Given the description of an element on the screen output the (x, y) to click on. 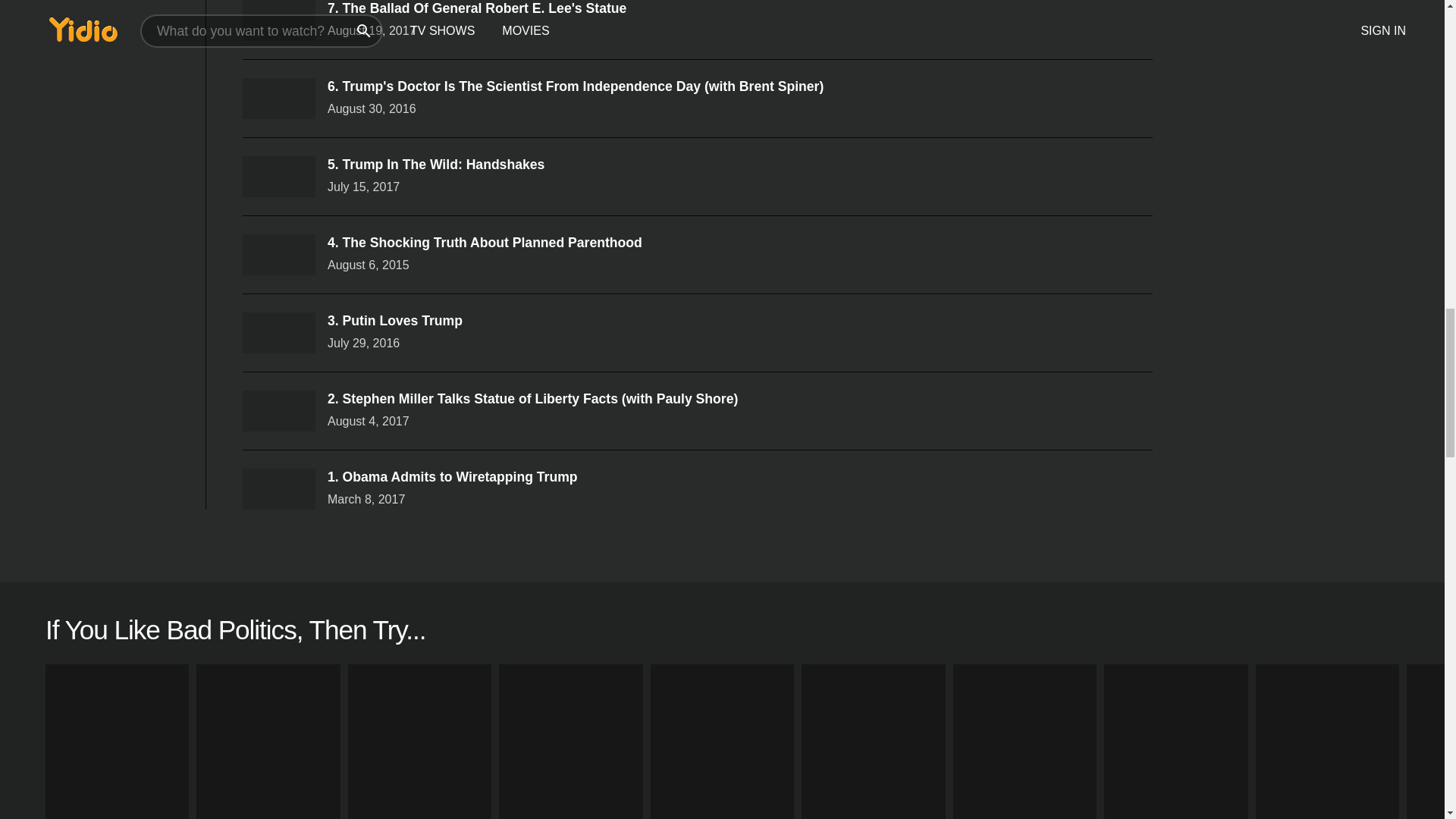
Palm Royale (1175, 741)
Palm Royale (1175, 741)
Ted Lasso (117, 741)
Rick and Morty (570, 741)
Rick And Morty (570, 741)
Real Time With Bill Maher (721, 741)
The Rookie (873, 741)
Dickinson (1327, 741)
Dickinson (1327, 741)
Young Sheldon (419, 741)
Ted Lasso (117, 741)
Sistas (267, 741)
The Rookie (873, 741)
Smiling Friends (1024, 741)
Real Time with Bill Maher (721, 741)
